Given the description of an element on the screen output the (x, y) to click on. 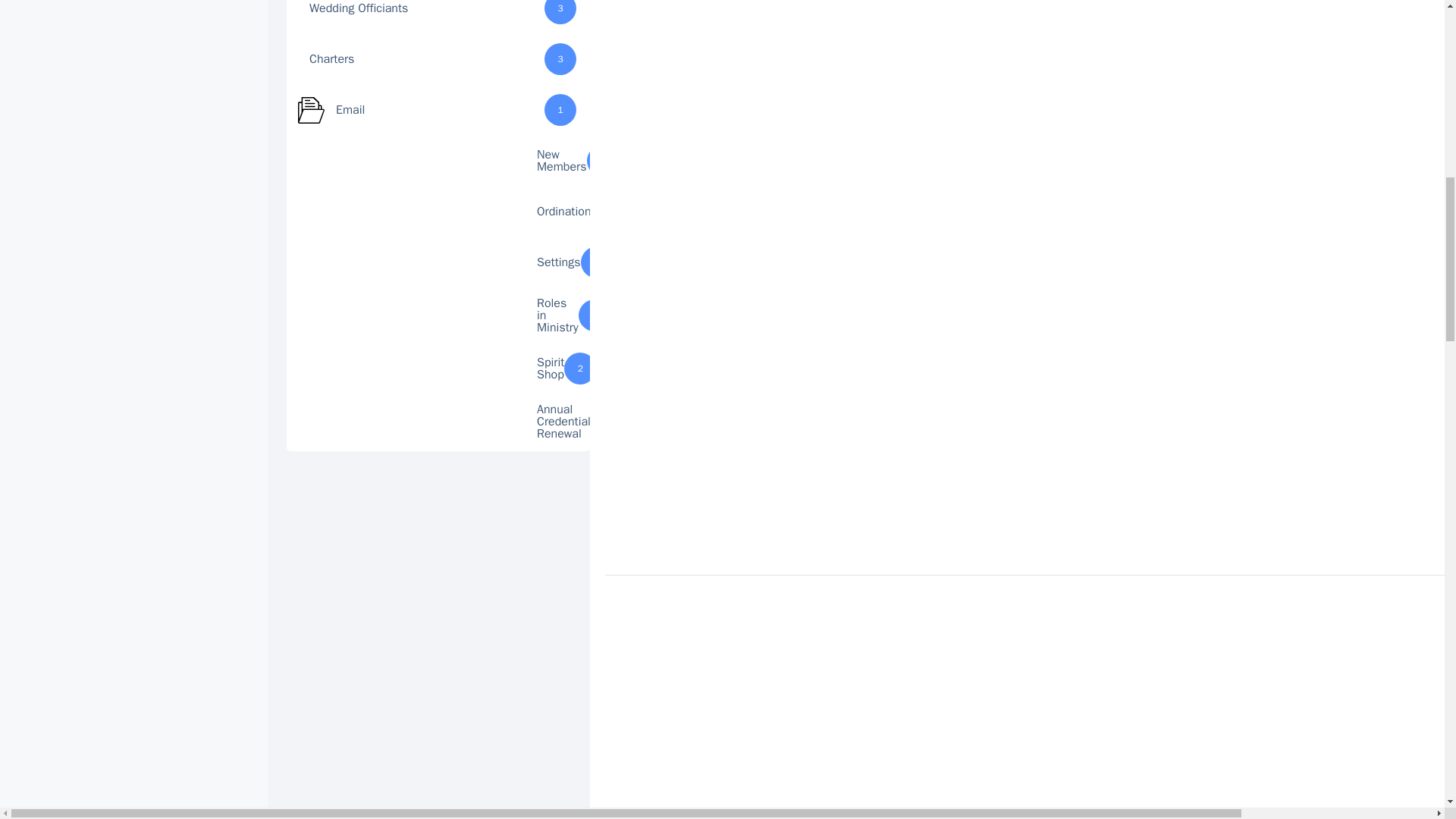
Scroll back to top (1406, 708)
